Given the description of an element on the screen output the (x, y) to click on. 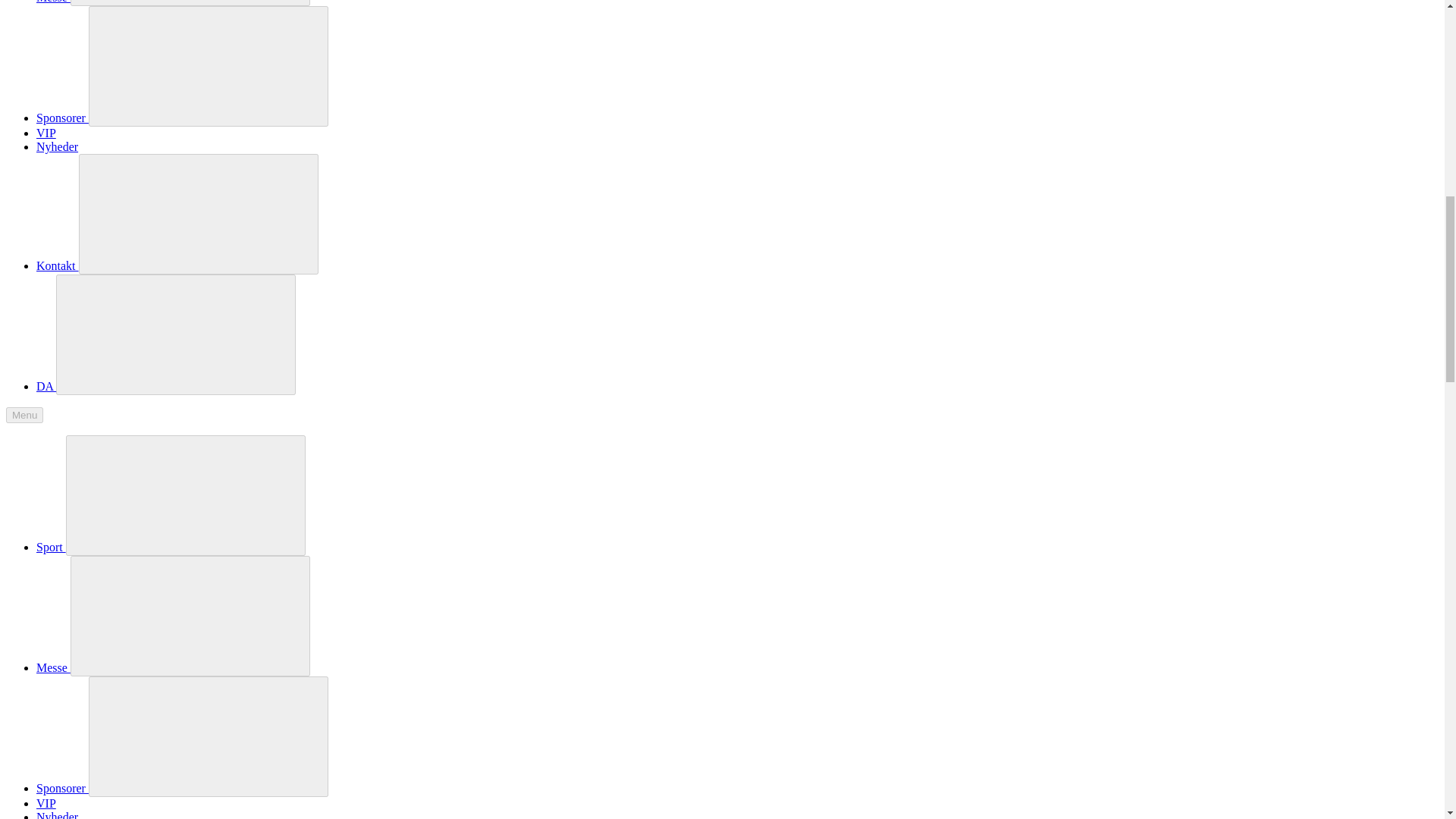
Sport (170, 546)
Nyheder (57, 814)
VIP (46, 802)
Nyheder (57, 146)
Messe (173, 2)
Messe (173, 2)
Messe (173, 667)
VIP (46, 132)
Sponsorer (182, 117)
DA (165, 386)
Sport (170, 546)
Menu (24, 415)
DA (165, 386)
Nyheder (57, 146)
Sponsorer (182, 117)
